Given the description of an element on the screen output the (x, y) to click on. 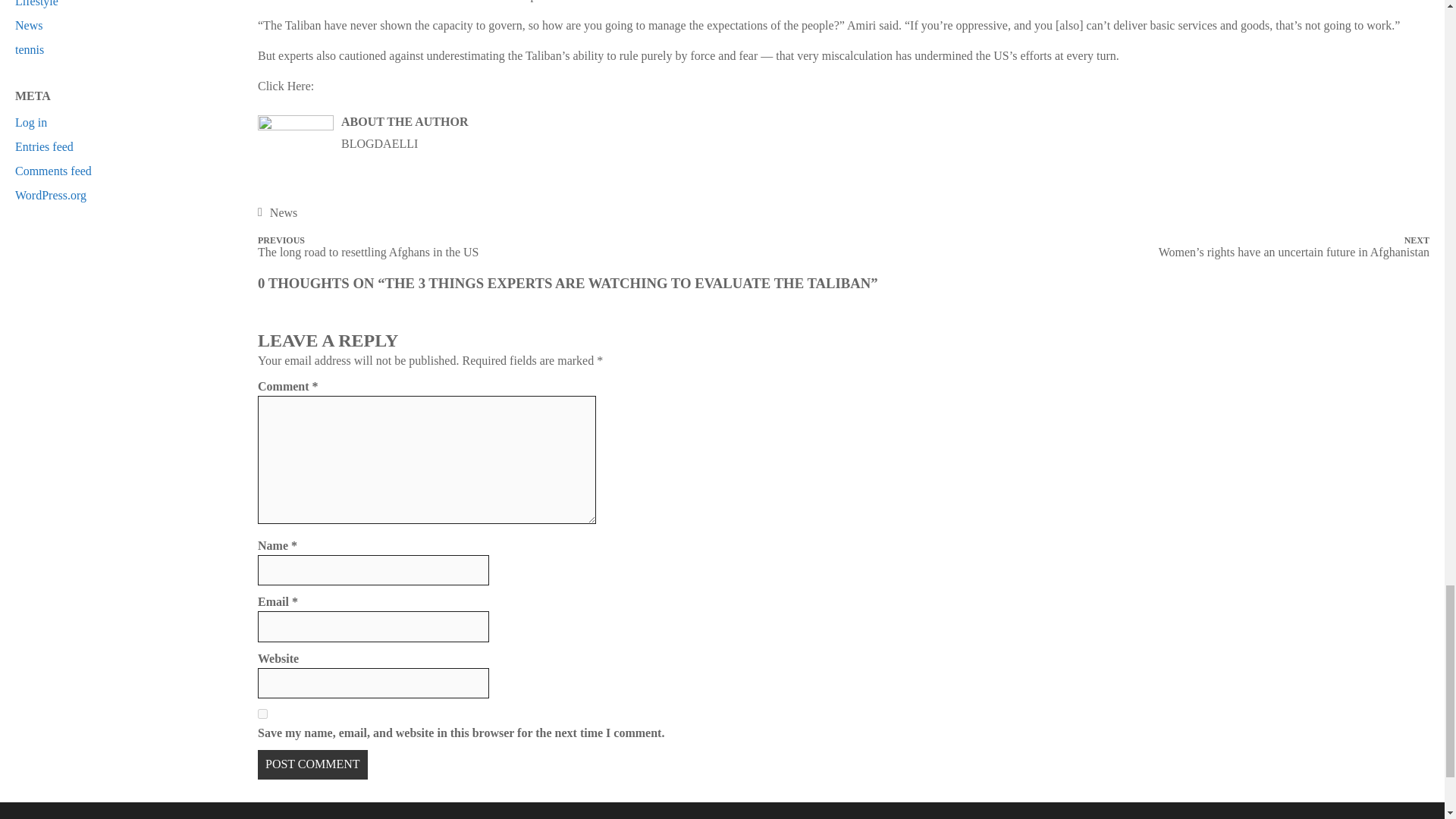
yes (262, 714)
Post Comment (312, 764)
